Given the description of an element on the screen output the (x, y) to click on. 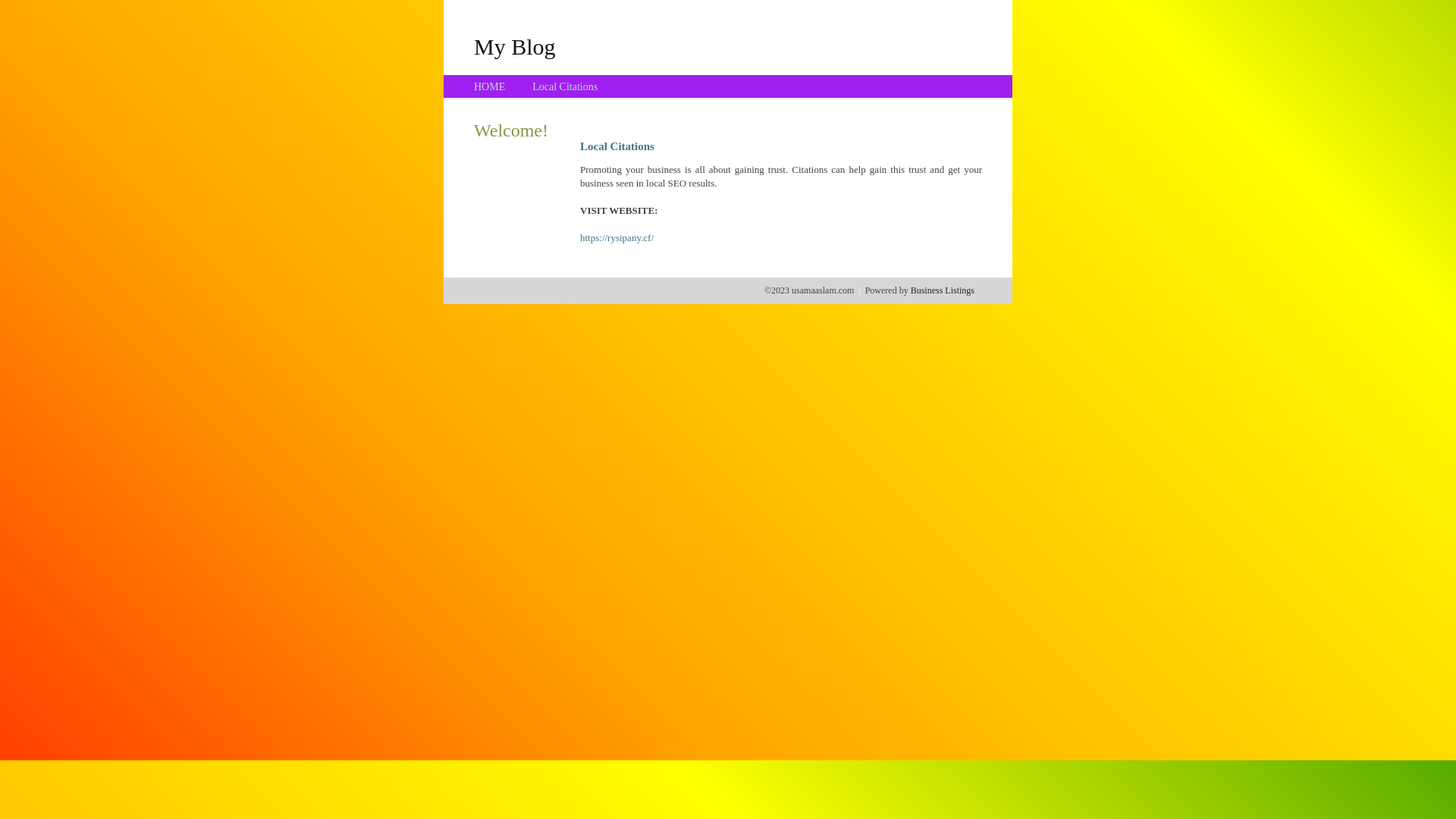
Business Listings Element type: text (942, 290)
HOME Element type: text (489, 86)
Local Citations Element type: text (564, 86)
My Blog Element type: text (514, 46)
https://rysipany.cf/ Element type: text (616, 237)
